Given the description of an element on the screen output the (x, y) to click on. 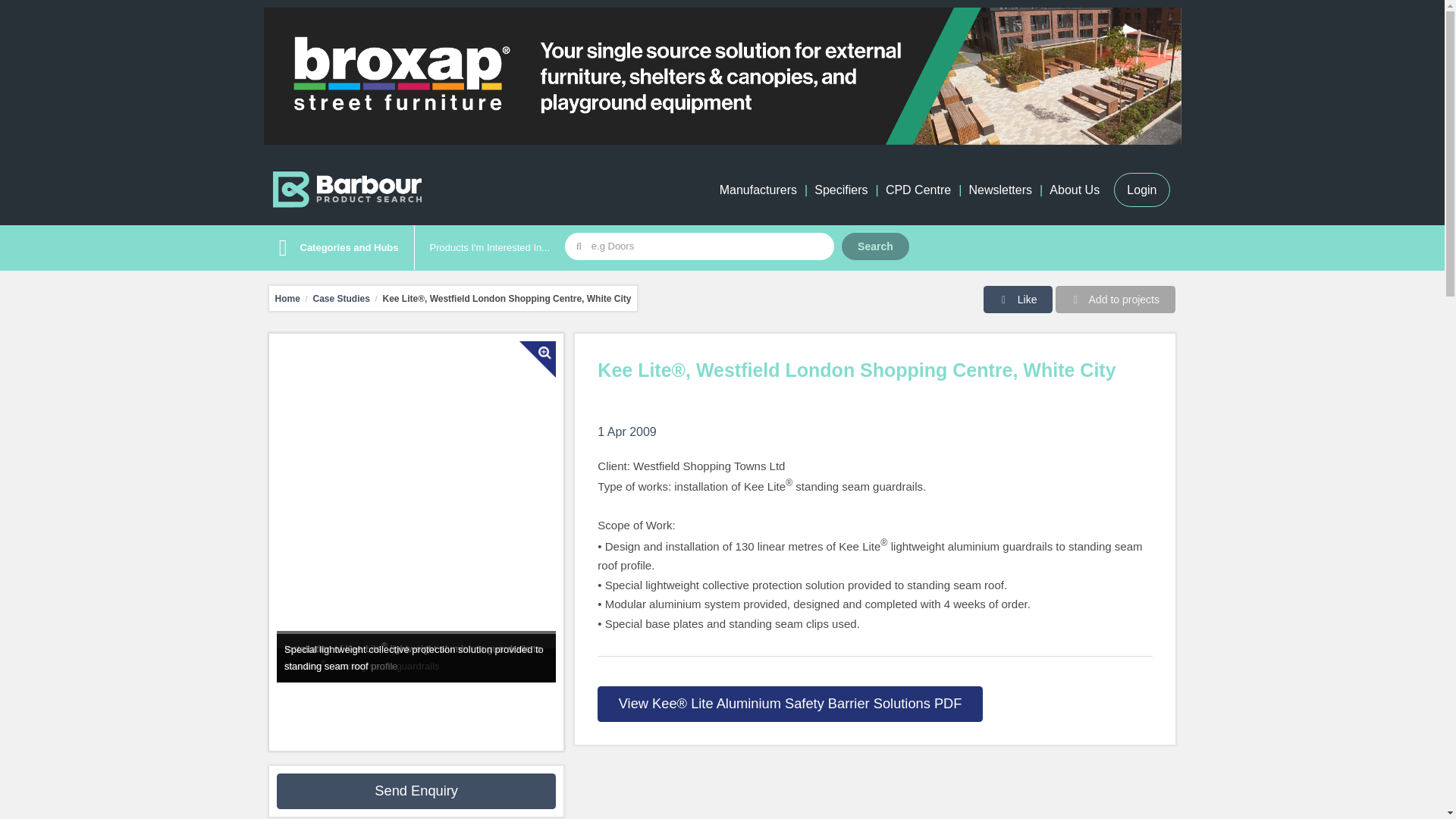
Specifiers (840, 189)
About Us (1074, 189)
Manufacturers (757, 189)
Categories and Hubs (333, 248)
CPD Centre (917, 189)
Newsletters (1000, 189)
Login (1141, 189)
